Given the description of an element on the screen output the (x, y) to click on. 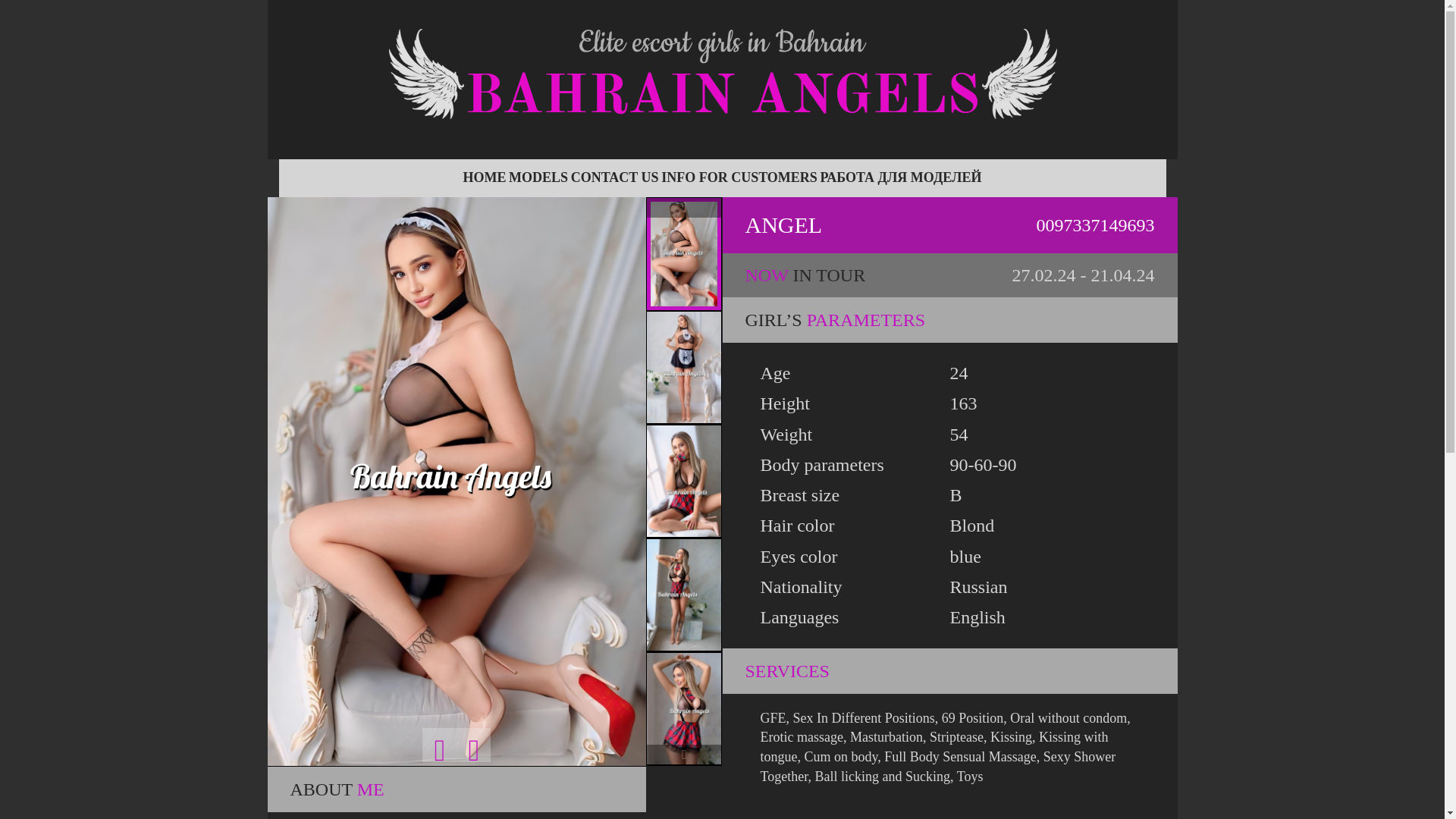
CONTACT US (614, 177)
HOME (484, 177)
INFO FOR CUSTOMERS (738, 177)
MODELS (537, 177)
